Given the description of an element on the screen output the (x, y) to click on. 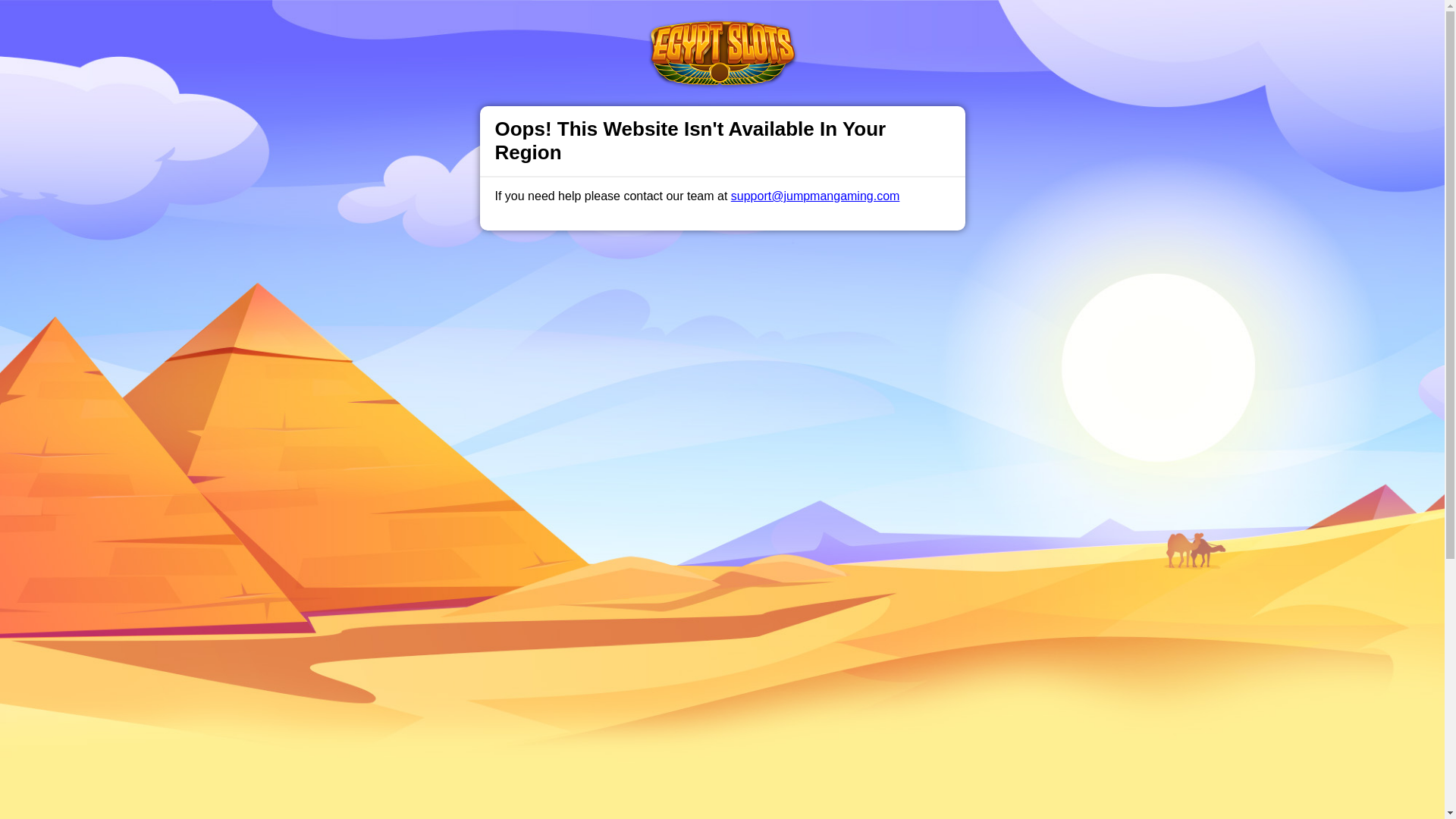
Join Now (1054, 26)
Trophies (456, 26)
Back To All Games (721, 766)
Promotions (526, 26)
Cookie Policy (800, 799)
Back To All Games (722, 766)
Login (963, 26)
All Games (600, 26)
